Given the description of an element on the screen output the (x, y) to click on. 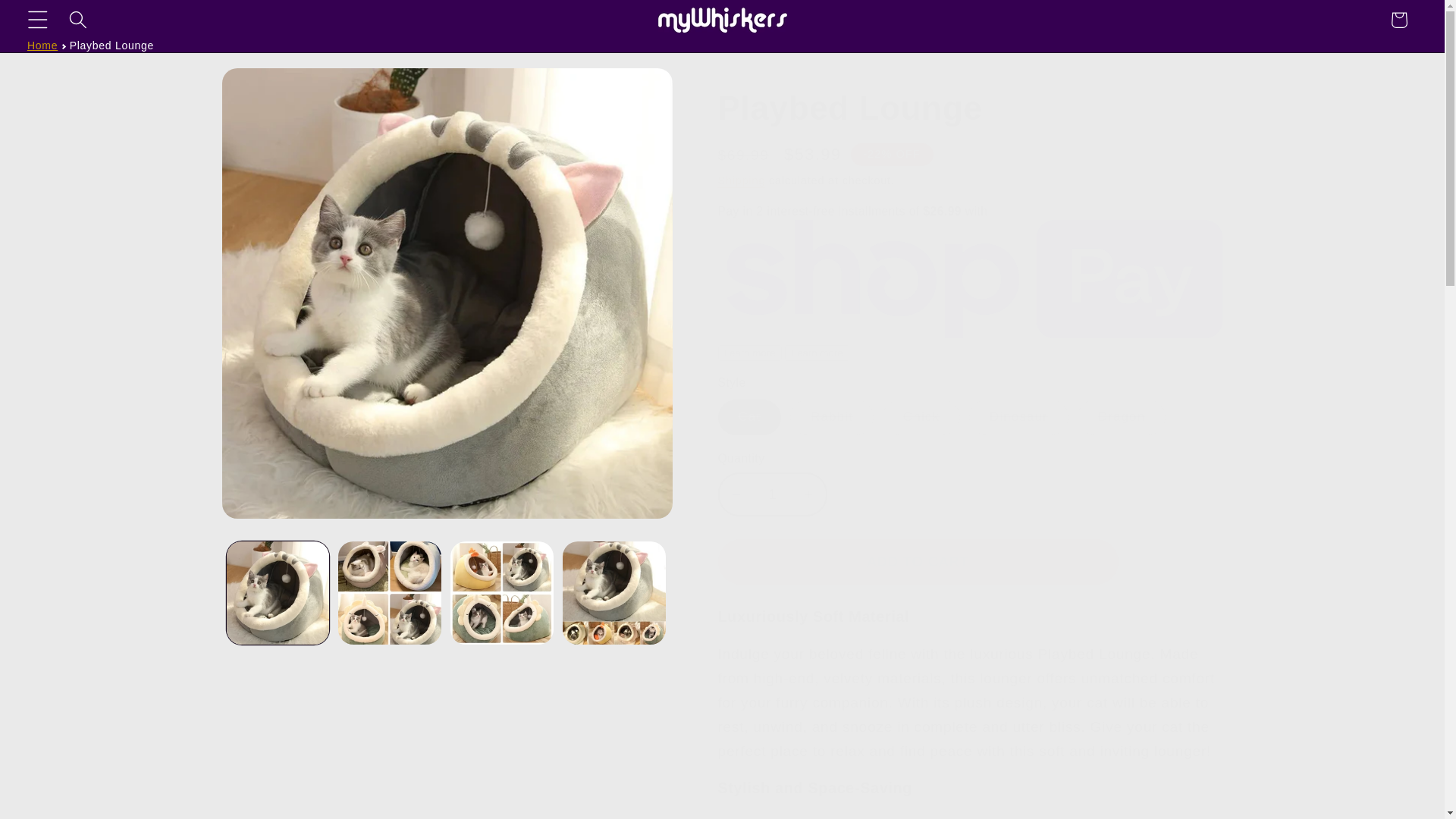
Skip to content (56, 22)
Home (42, 45)
Cart (1398, 20)
Playbed Lounge (111, 45)
